Given the description of an element on the screen output the (x, y) to click on. 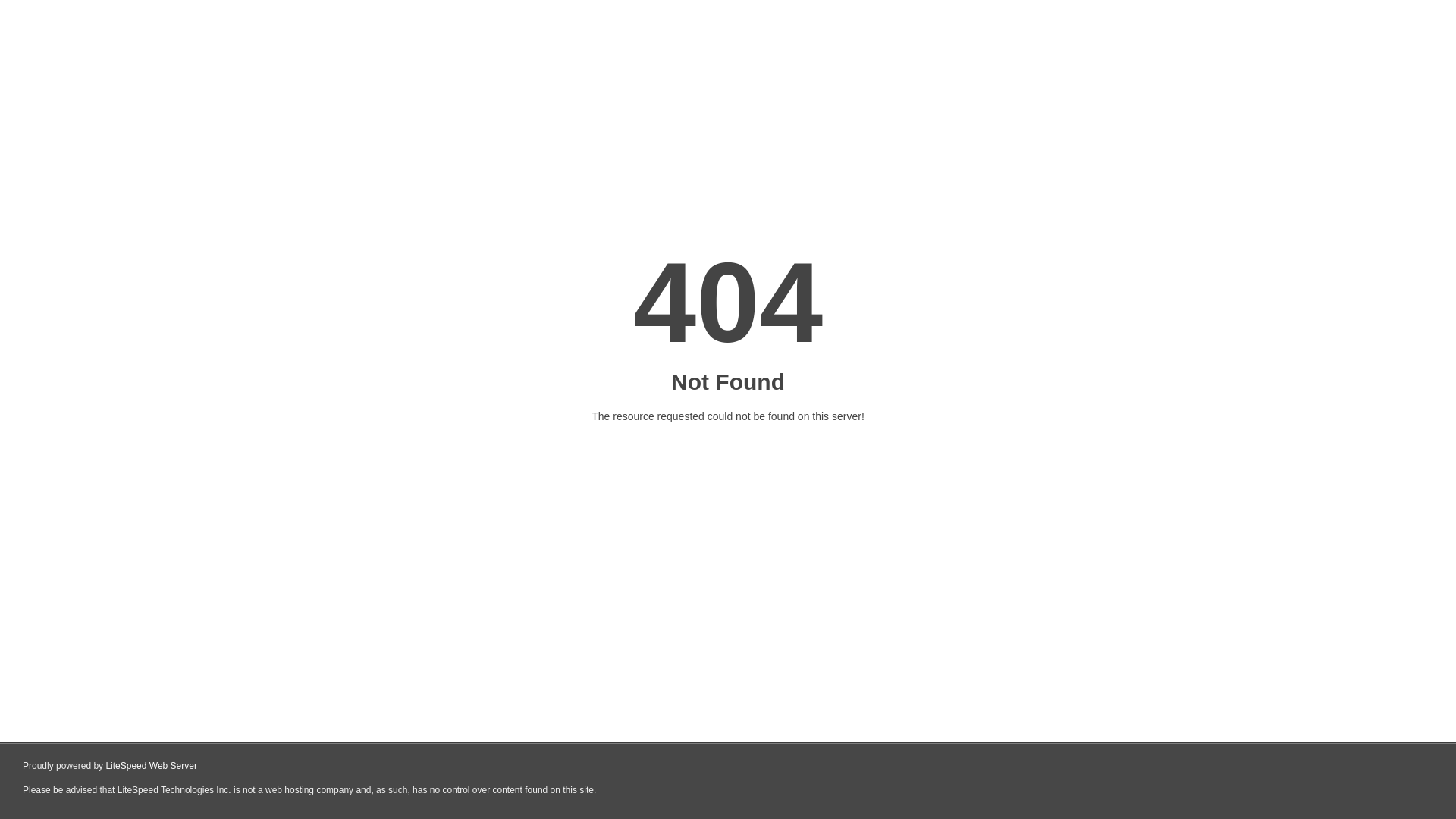
LiteSpeed Web Server Element type: text (151, 765)
